Given the description of an element on the screen output the (x, y) to click on. 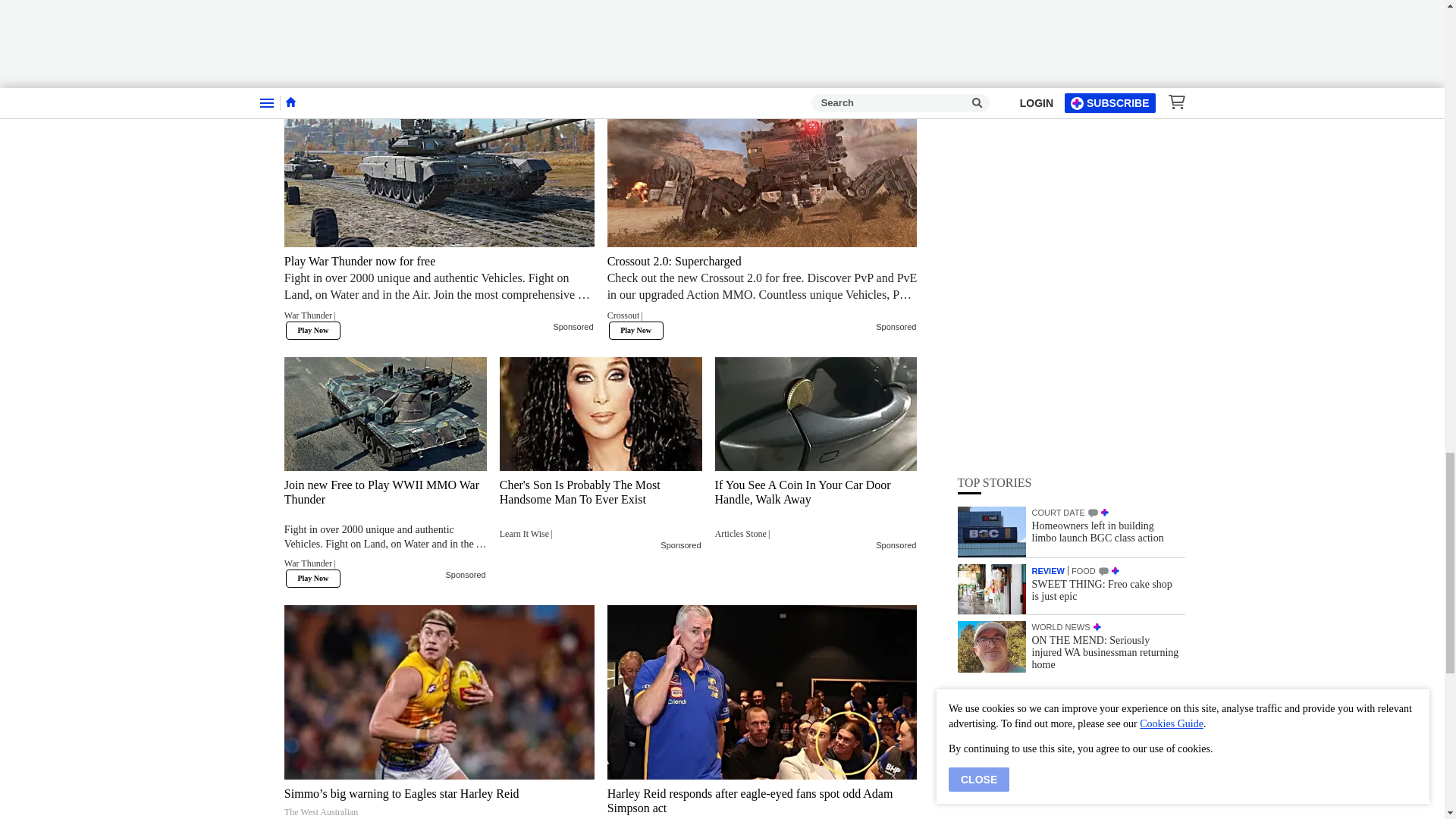
"Description: No Install. Play for free." (384, 2)
